Given the description of an element on the screen output the (x, y) to click on. 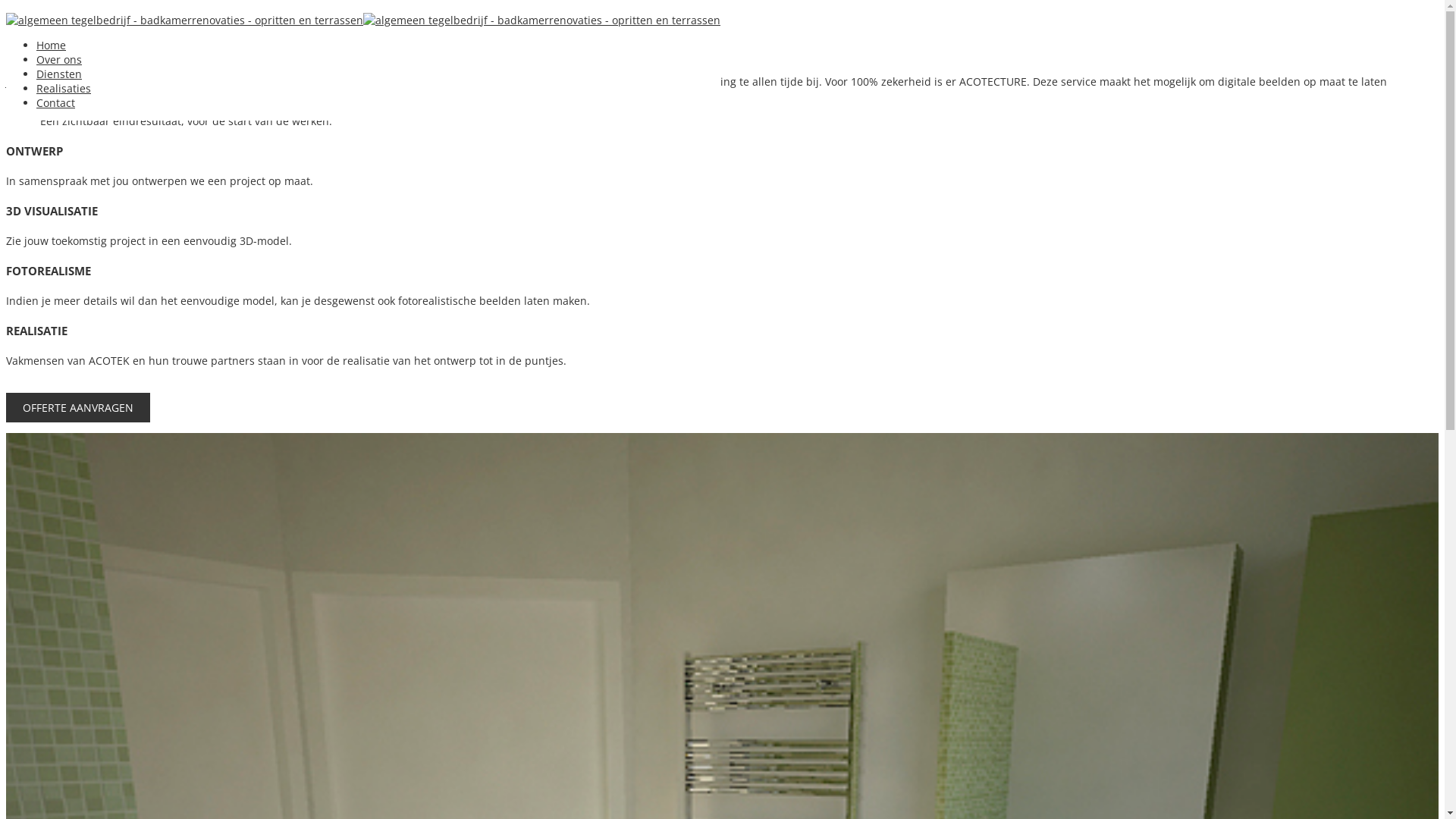
Contact Element type: text (55, 102)
OFFERTE AANVRAGEN Element type: text (78, 407)
Realisaties Element type: text (63, 88)
Over ons Element type: text (58, 59)
Diensten Element type: text (58, 73)
Home Element type: text (50, 44)
